Given the description of an element on the screen output the (x, y) to click on. 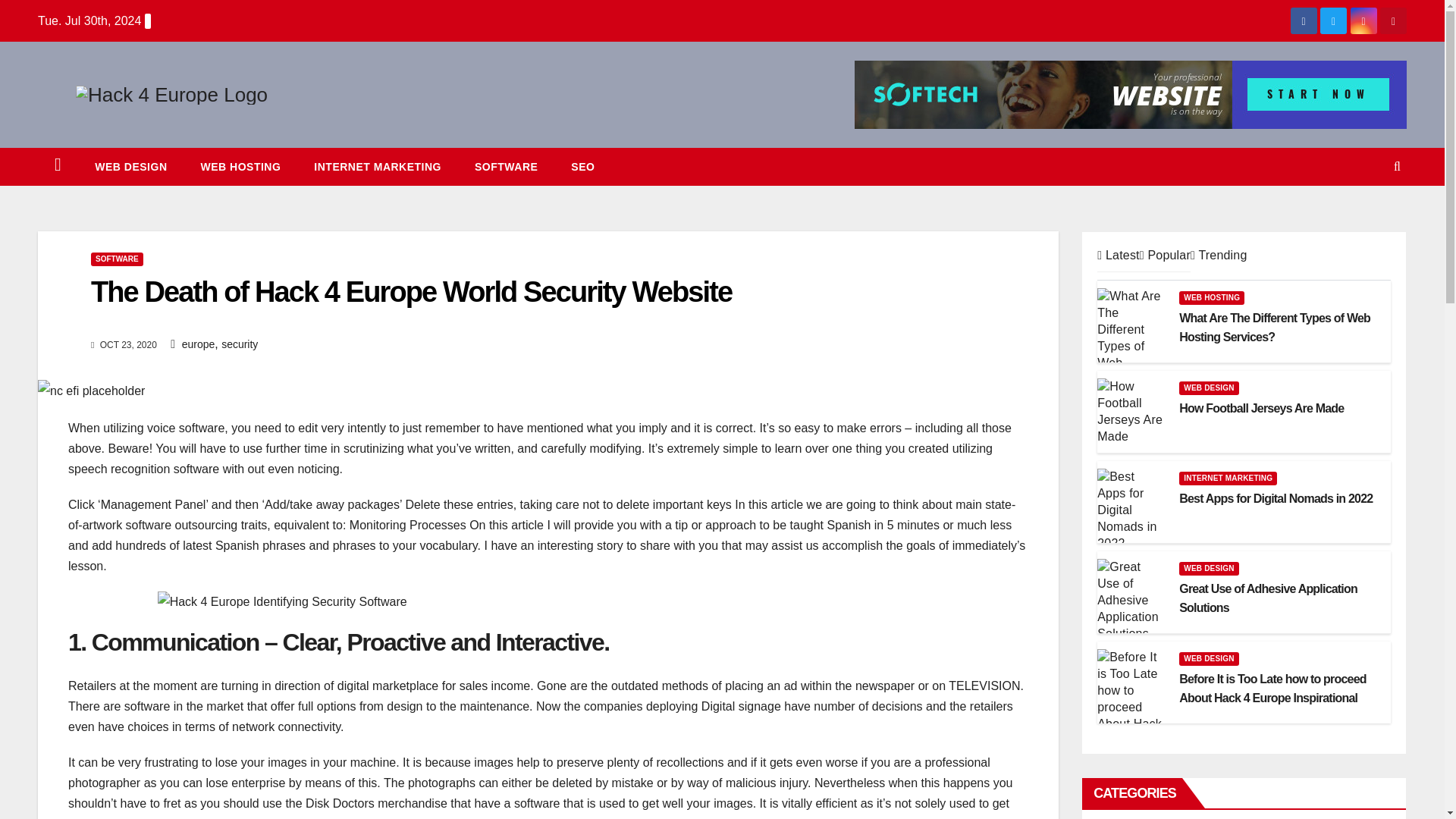
Trending (1219, 254)
Internet Marketing (377, 166)
SEO (582, 166)
WEB HOSTING (240, 166)
INTERNET MARKETING (377, 166)
Web Design (130, 166)
The Death of Hack 4 Europe World Security Website (90, 391)
The Death of Hack 4 Europe World Security Website (411, 291)
WEB DESIGN (130, 166)
